Given the description of an element on the screen output the (x, y) to click on. 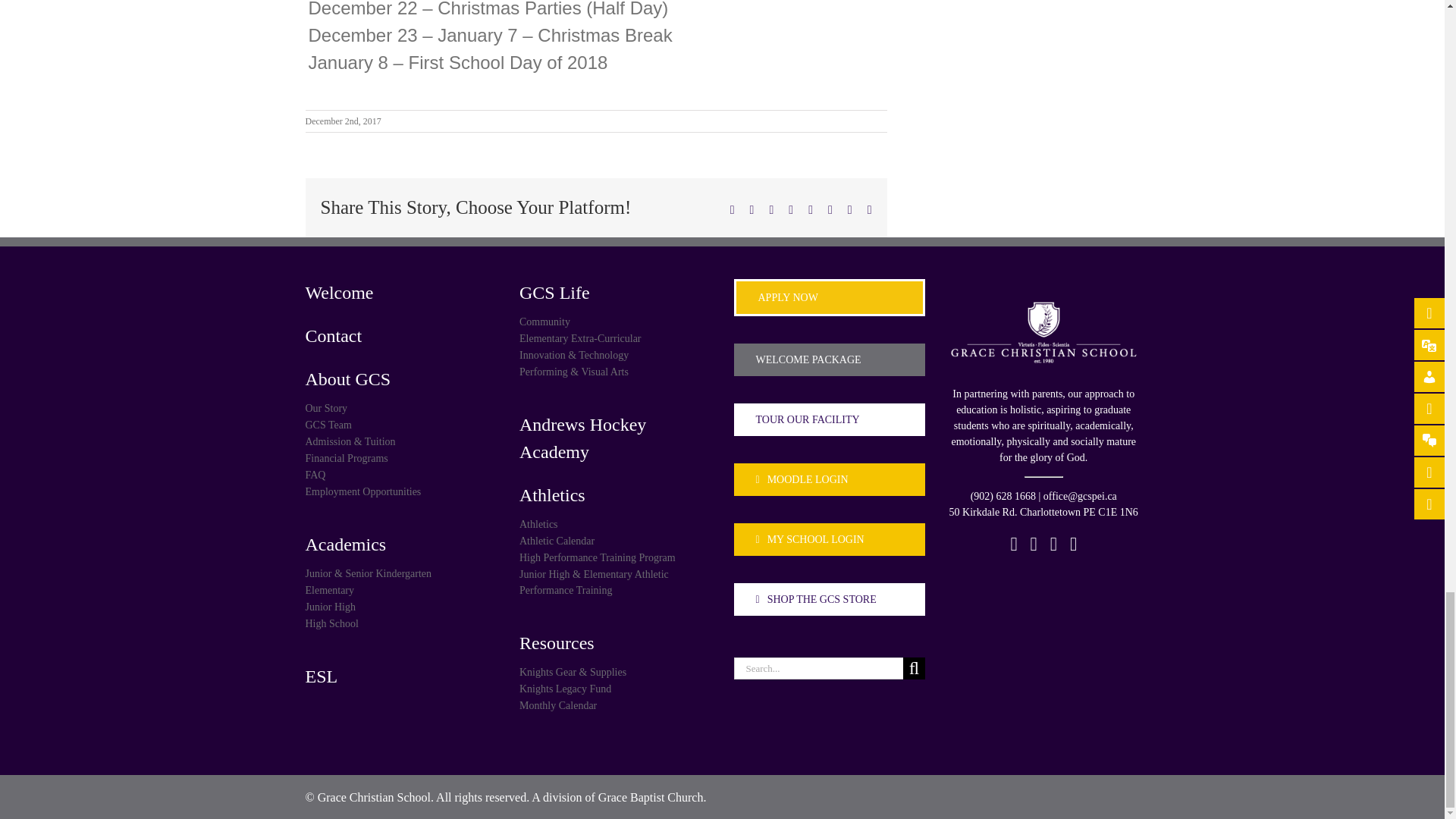
About GCS (400, 378)
Elementary (400, 589)
Resources (615, 642)
Junior High (400, 606)
Athletic Calendar (615, 540)
ESL (400, 675)
Athletics (615, 524)
High Performance Training Program (615, 557)
GCS Life (615, 291)
Welcome (400, 291)
Employment Opportunities (400, 490)
Andrews Hockey Academy (615, 437)
Athletics (615, 494)
Community (615, 320)
High School (400, 622)
